Given the description of an element on the screen output the (x, y) to click on. 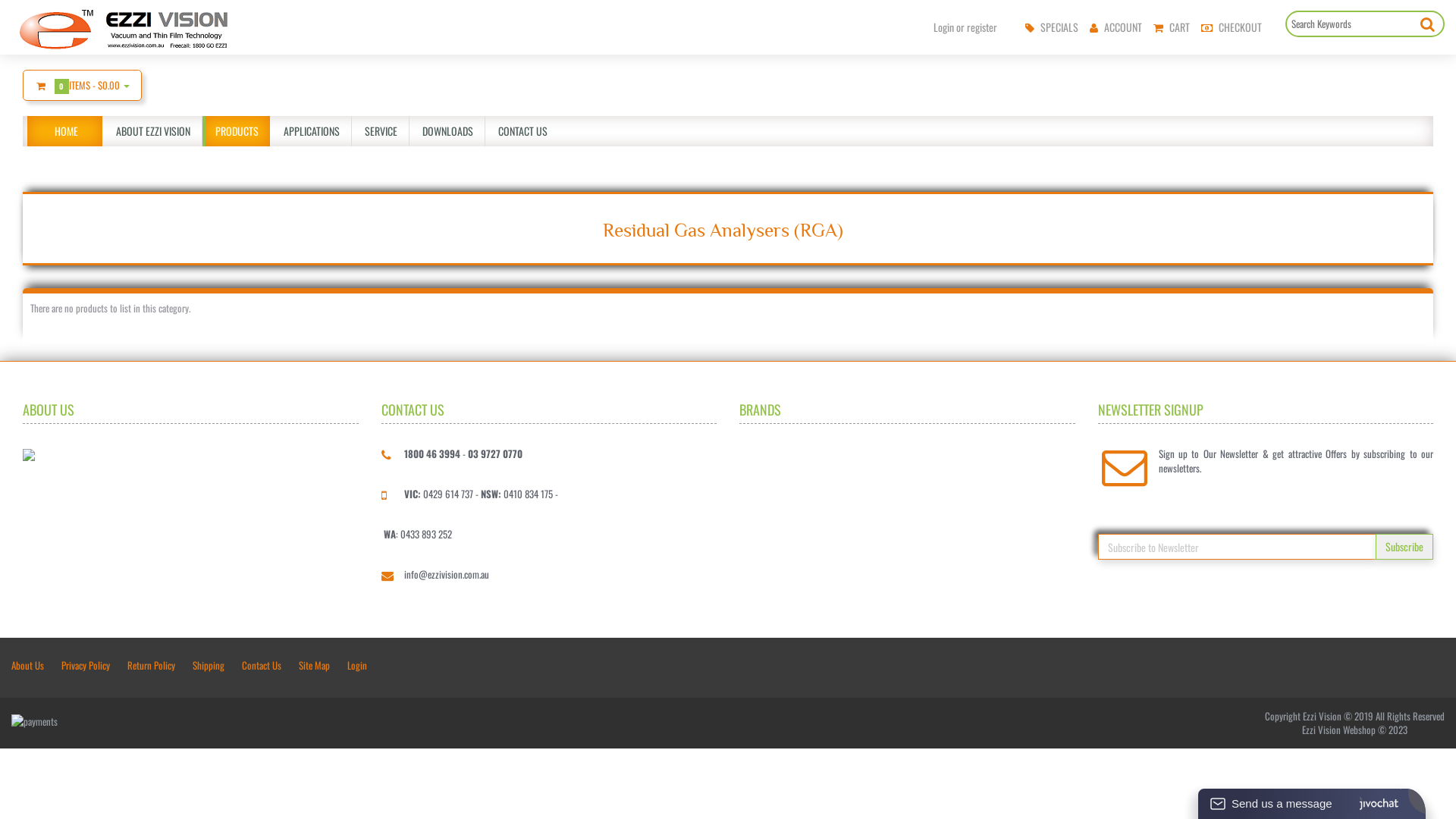
Googleplus Element type: text (1366, 665)
Shipping Element type: text (208, 664)
Skype Element type: text (1388, 80)
Ezzi Vision Webshop Element type: hover (124, 28)
Go Element type: hover (1427, 23)
 CART Element type: text (1169, 26)
Login or register Element type: text (961, 26)
Back to top Element type: text (1430, 795)
  APPLICATIONS Element type: text (311, 131)
 CHECKOUT Element type: text (1229, 26)
Twitter Element type: text (1255, 80)
Return Policy Element type: text (150, 664)
  ABOUT EZZI VISION Element type: text (152, 131)
Privacy Policy Element type: text (85, 664)
Facebook Element type: text (1233, 665)
  DOWNLOADS Element type: text (447, 131)
Googleplus Element type: text (1355, 80)
Contact Us Element type: text (261, 664)
  PRODUCTS Element type: text (236, 131)
Site Map Element type: text (314, 664)
About Us Element type: text (31, 664)
Linkedin Element type: text (1300, 665)
rss Element type: text (1322, 80)
Subscribe Element type: text (1404, 546)
Ezzi Vision About Us Element type: hover (28, 453)
  CONTACT US Element type: text (522, 131)
Linkedin Element type: text (1288, 80)
   0 ITEMS - $0.00 Element type: text (82, 85)
Login Element type: text (356, 664)
Twitter Element type: text (1266, 665)
Flickr Element type: text (1422, 80)
 ACCOUNT Element type: text (1113, 26)
Flickr Element type: text (1433, 665)
  SERVICE Element type: text (380, 131)
HOME Element type: text (58, 131)
rss Element type: text (1333, 665)
Skype Element type: text (1400, 665)
 SPECIALS Element type: text (1049, 26)
Facebook Element type: text (1222, 80)
